Given the description of an element on the screen output the (x, y) to click on. 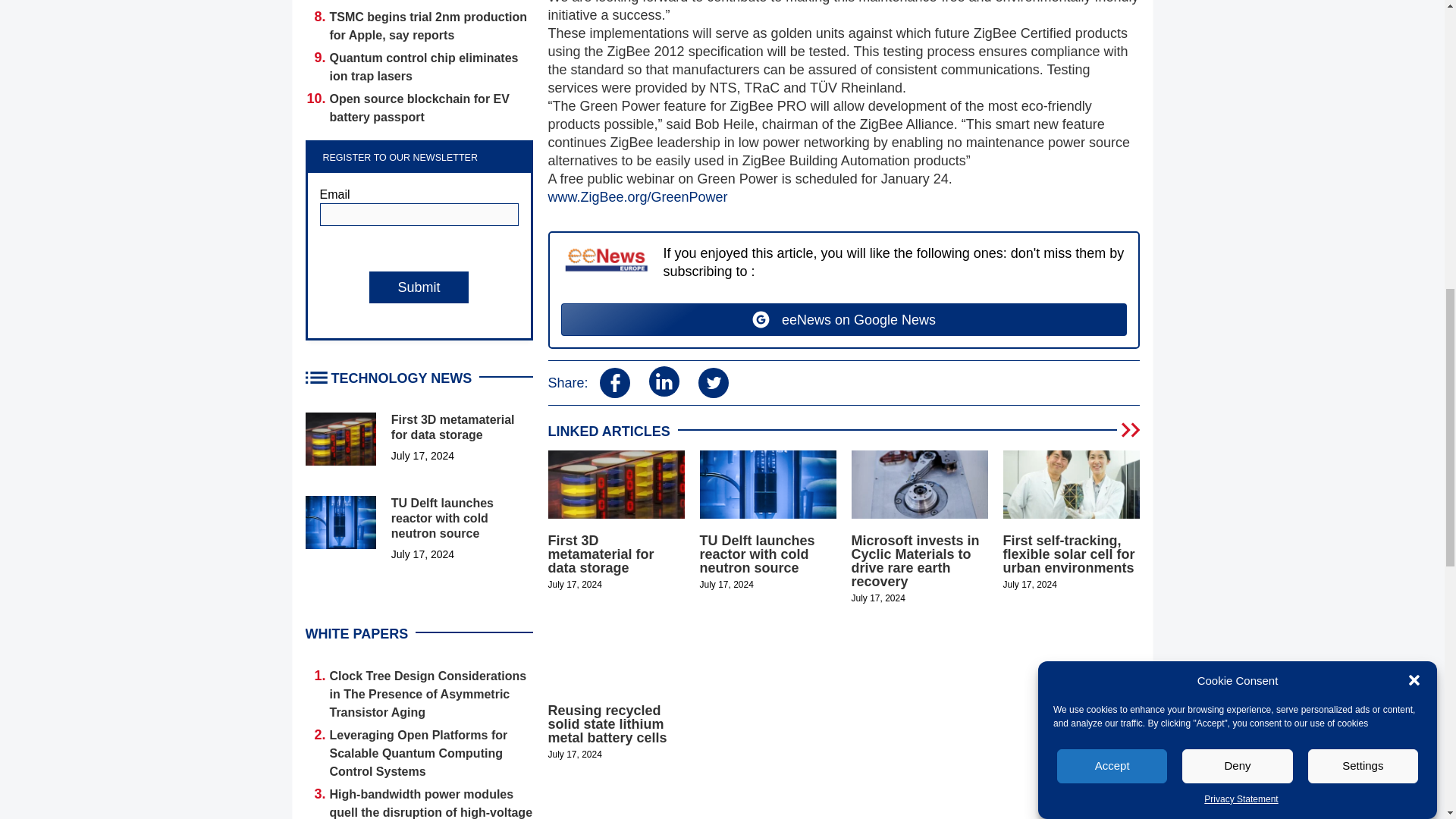
Settings (1362, 204)
Accept (1112, 251)
Deny (1237, 235)
Submit (418, 287)
Privacy Statement (1241, 130)
